Given the description of an element on the screen output the (x, y) to click on. 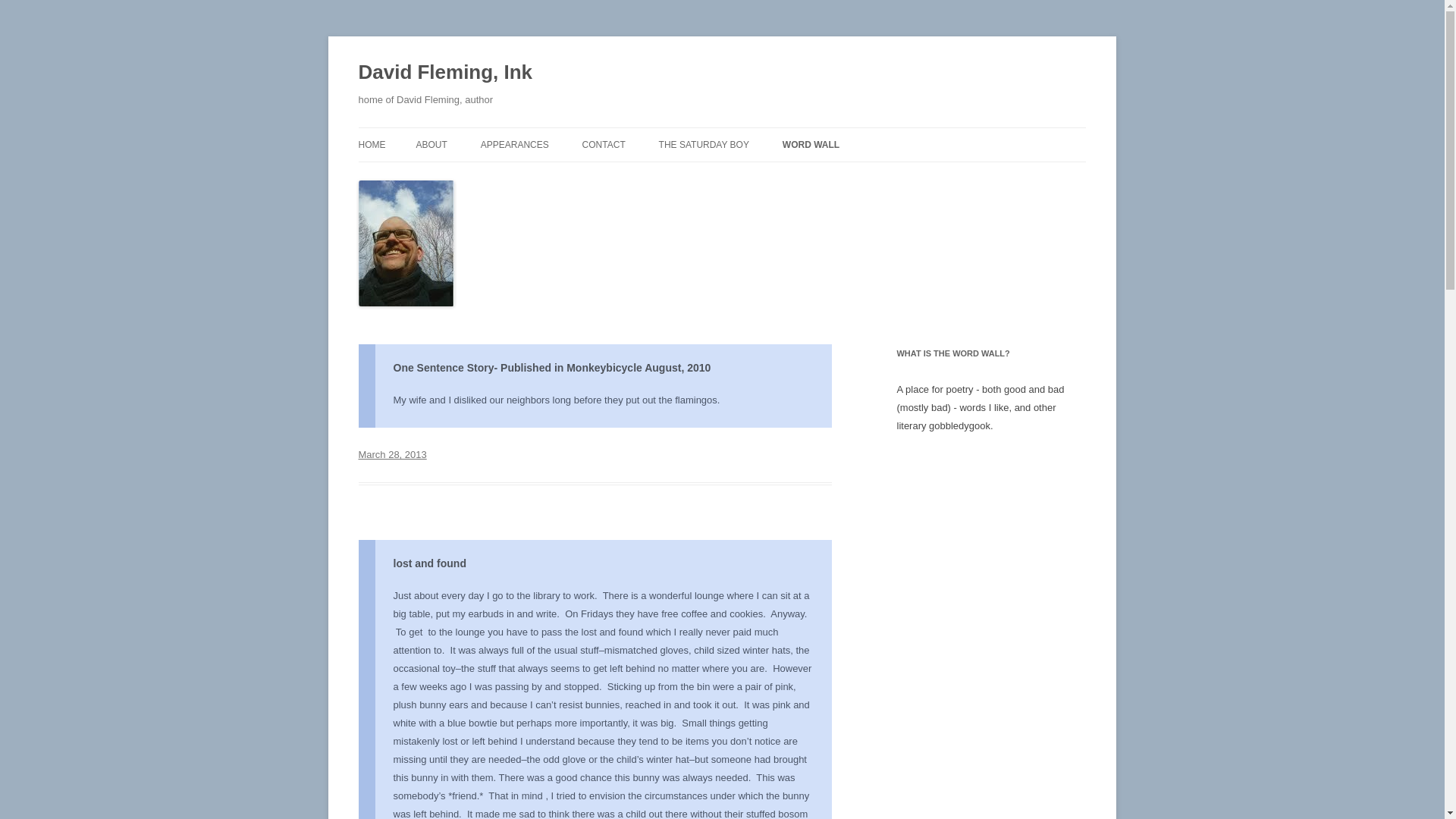
One Sentence Story- Published in Monkeybicycle August, 2010 (551, 367)
March 28, 2013 (392, 454)
Skip to content (757, 132)
CONTACT (604, 144)
lost and found (429, 563)
APPEARANCES (514, 144)
THE SATURDAY BOY (704, 144)
David Fleming, Ink (445, 72)
WORD WALL (811, 144)
ABOUT (430, 144)
Skip to content (757, 132)
David Fleming, Ink (445, 72)
